Given the description of an element on the screen output the (x, y) to click on. 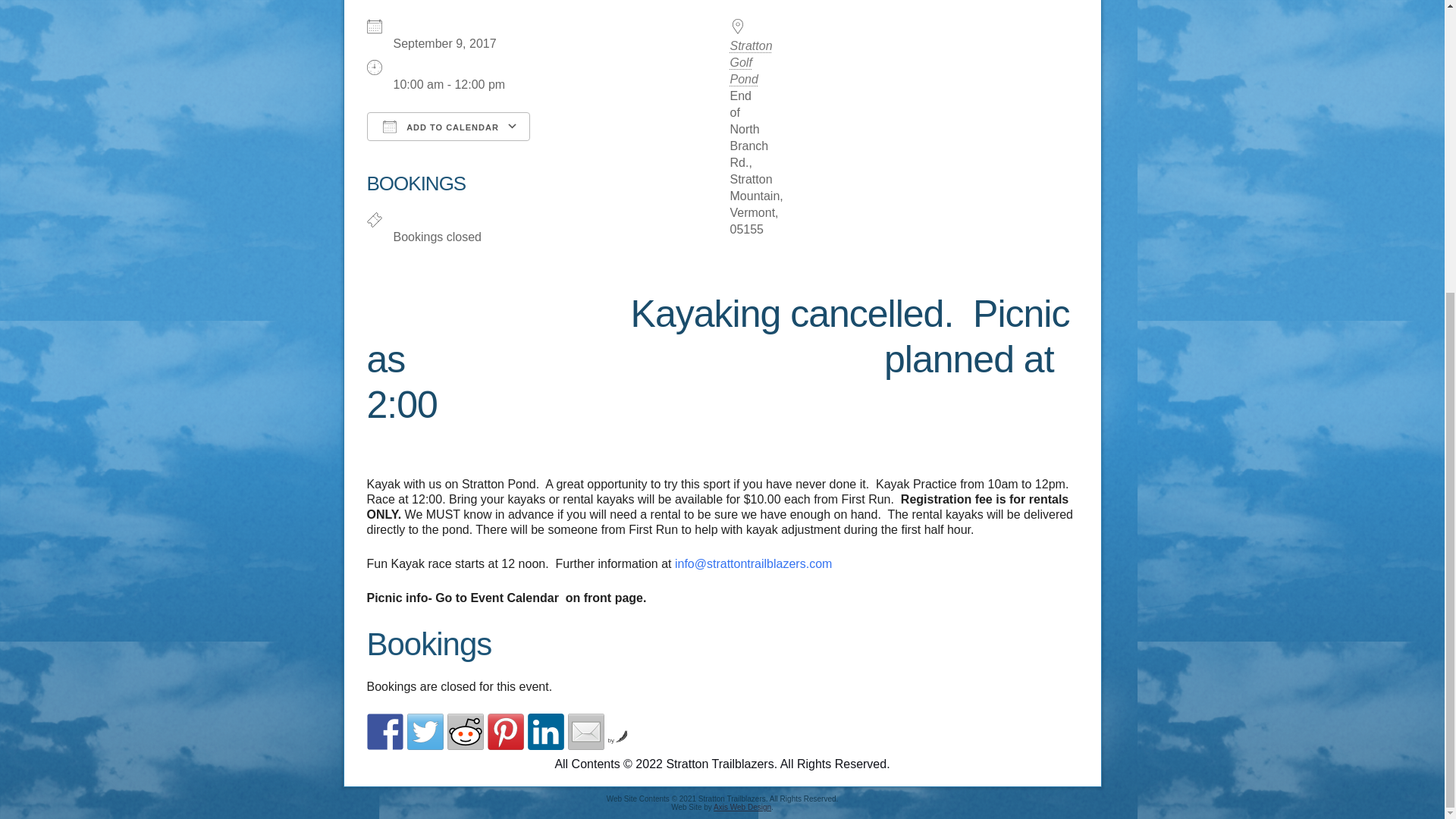
Share on Twitter (424, 731)
Stratton Golf Pond (750, 62)
by (618, 740)
ADD TO CALENDAR (447, 126)
Share on Reddit (464, 731)
Axis Web Design (742, 807)
Share on Facebook (384, 731)
Download ICS (447, 172)
